Given the description of an element on the screen output the (x, y) to click on. 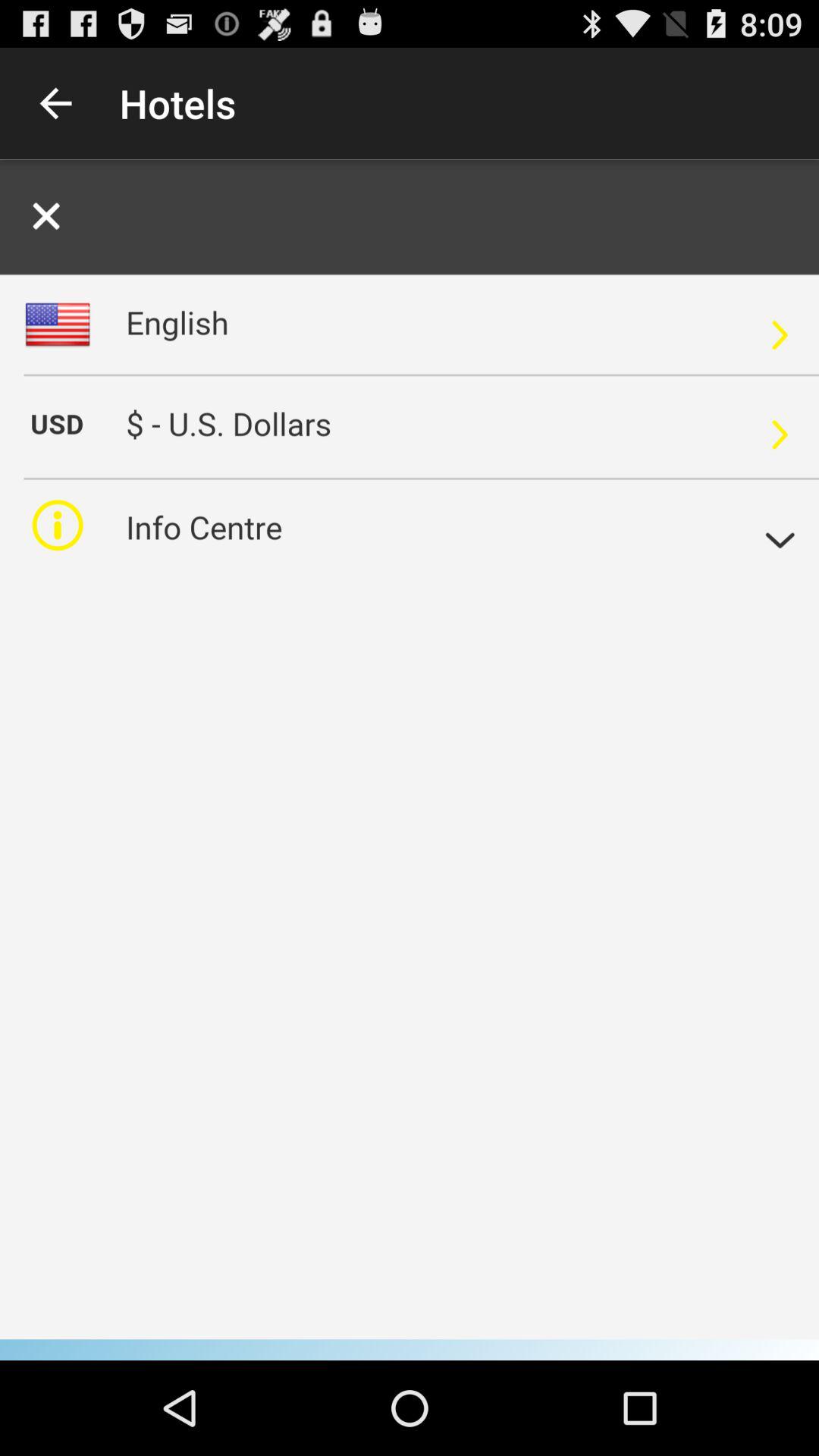
select it (409, 759)
